Given the description of an element on the screen output the (x, y) to click on. 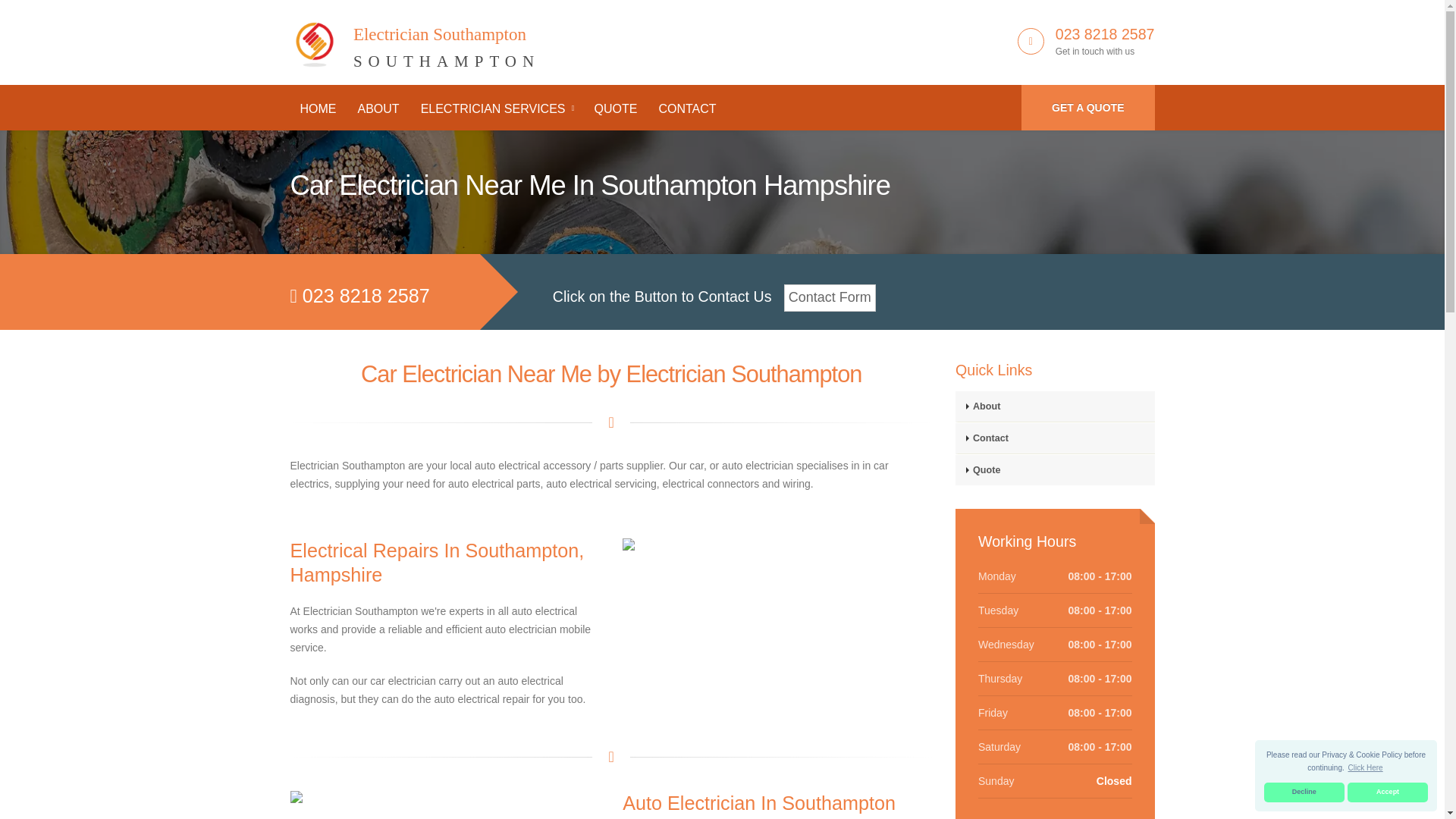
Decline (1303, 792)
Accept (1388, 792)
023 8218 2587 (1104, 33)
GET A QUOTE (1088, 107)
HOME (317, 109)
ELECTRICIAN SERVICES (414, 38)
CONTACT (496, 109)
QUOTE (686, 109)
Contact Form (614, 109)
ABOUT (830, 298)
Click Here (378, 109)
